Given the description of an element on the screen output the (x, y) to click on. 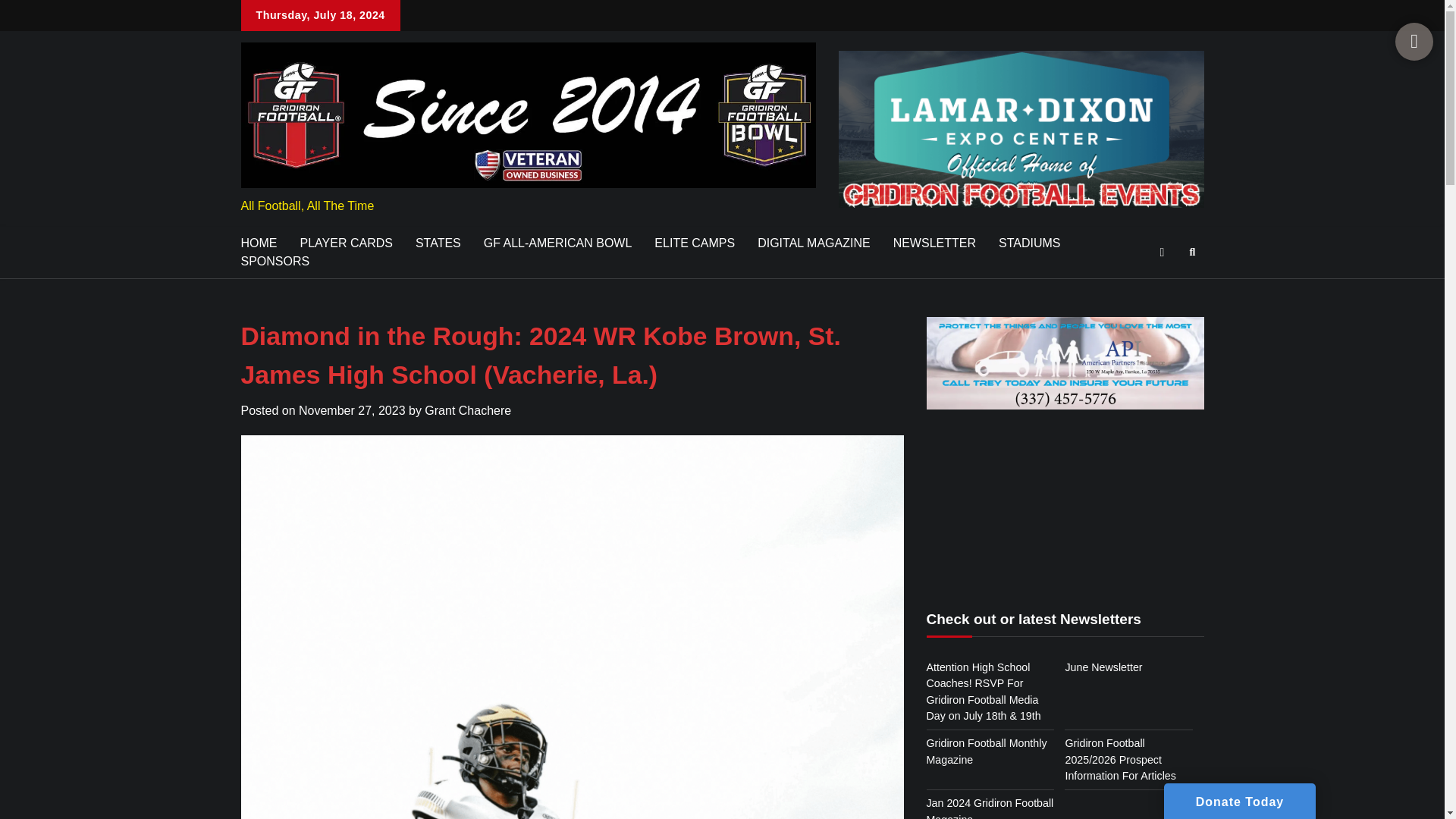
GF ALL-AMERICAN BOWL (557, 243)
HOME (258, 243)
View Random Post (1162, 251)
November 27, 2023 (352, 410)
ELITE CAMPS (694, 243)
DIGITAL MAGAZINE (812, 243)
STATES (437, 243)
NEWSLETTER (934, 243)
SPONSORS (274, 261)
PLAYER CARDS (345, 243)
Search (1164, 288)
Grant Chachere (468, 410)
Search (1192, 251)
STADIUMS (1029, 243)
